Given the description of an element on the screen output the (x, y) to click on. 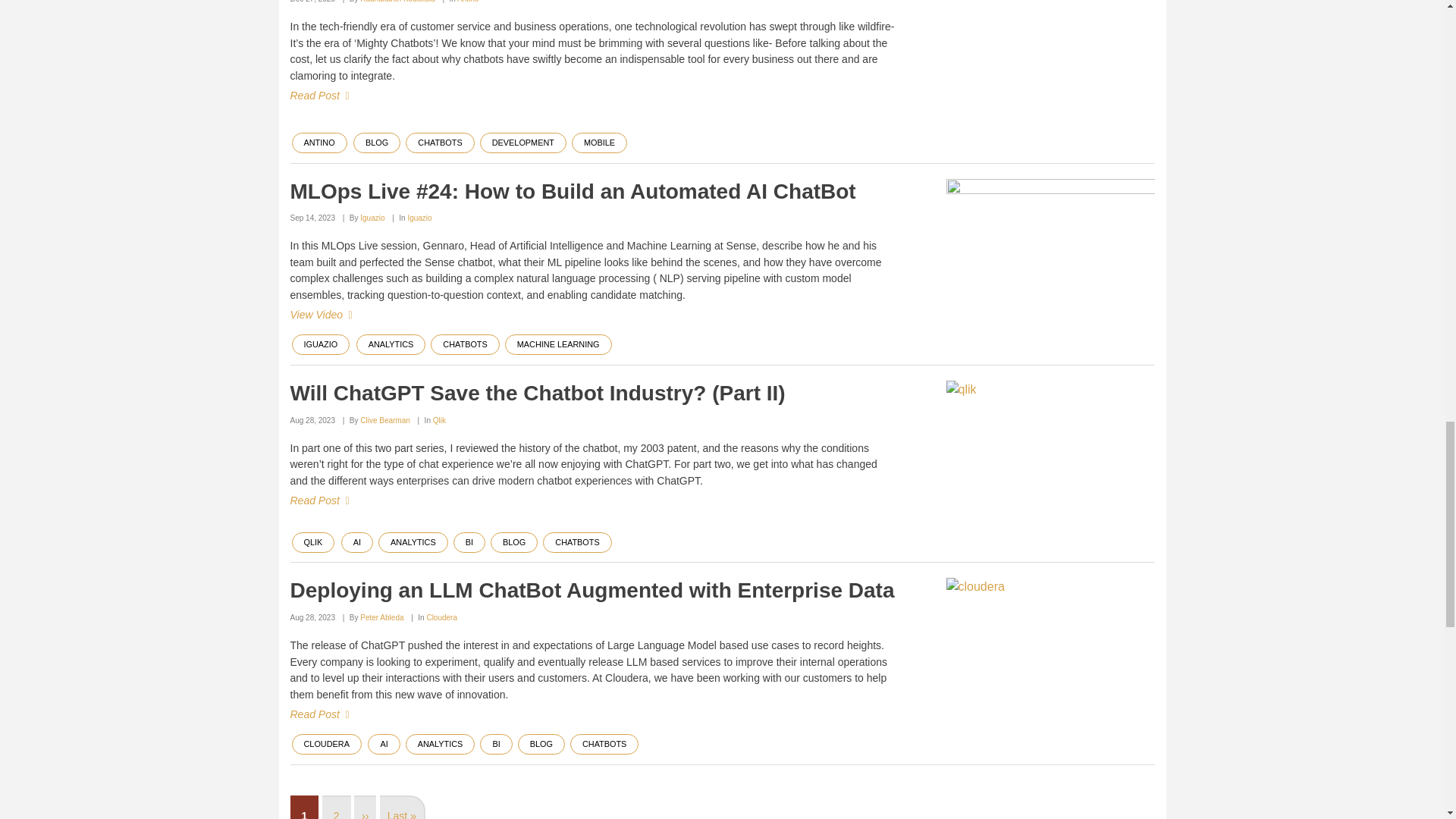
antino (1050, 49)
qlik (1050, 438)
